Given the description of an element on the screen output the (x, y) to click on. 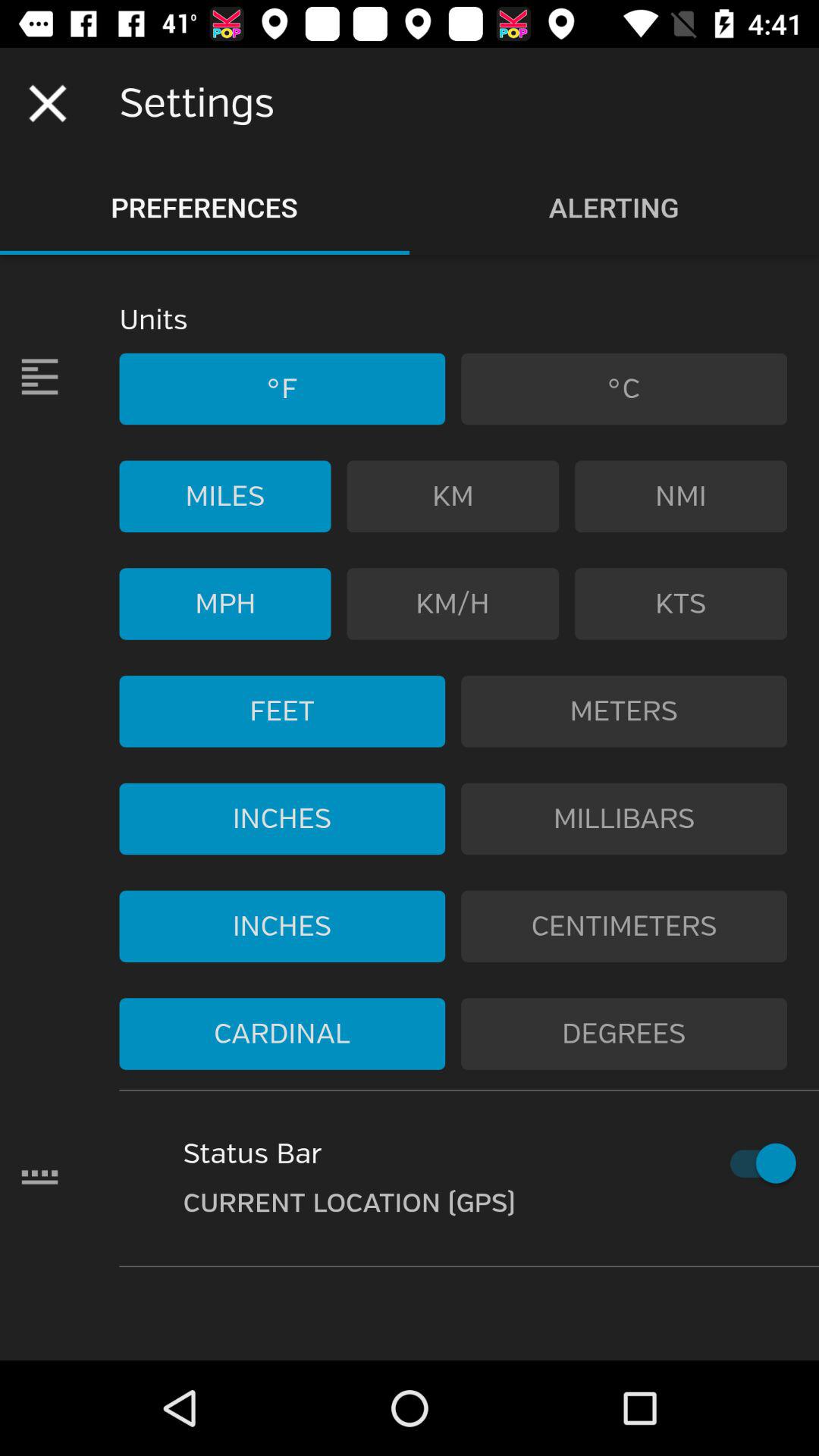
launch the millibars icon (624, 818)
